Given the description of an element on the screen output the (x, y) to click on. 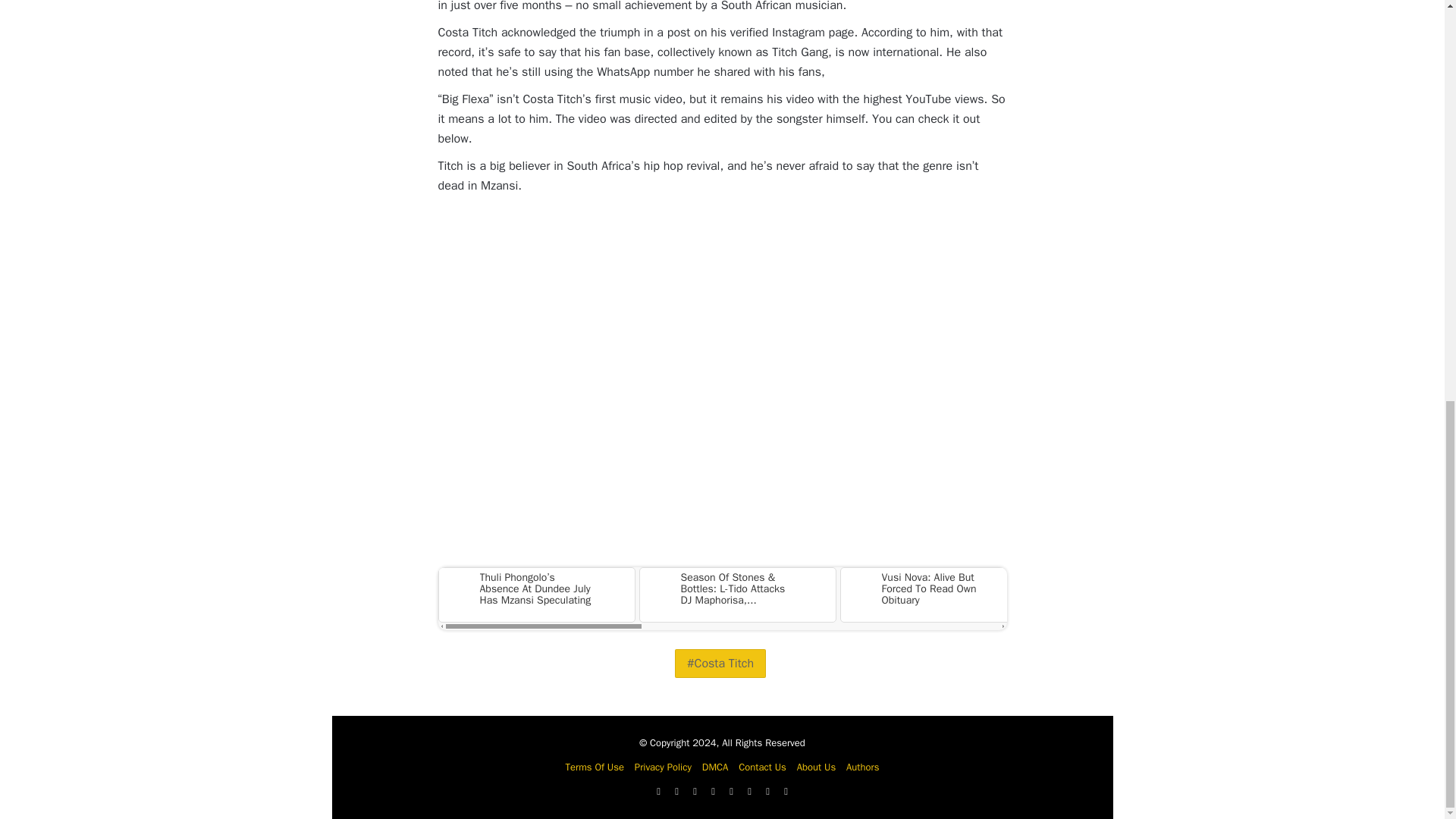
After A Brief Hiatus, Frank Casino Drops New Music... (1136, 588)
Vusi Nova: Alive But Forced To Read Own Obituary (935, 588)
